Given the description of an element on the screen output the (x, y) to click on. 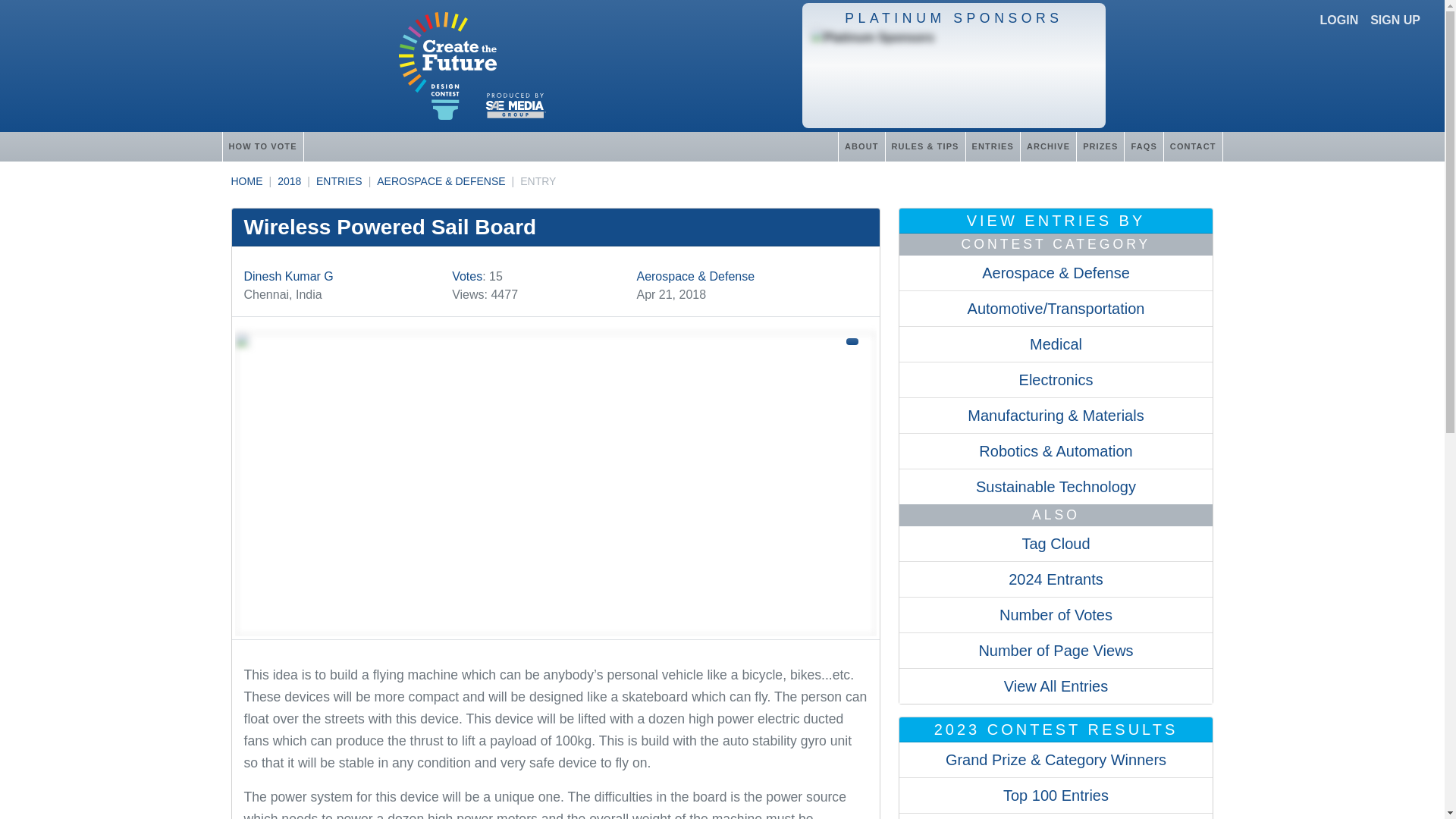
PRIZES (1099, 146)
CONTACT (1193, 146)
Votes (466, 276)
Dinesh Kumar G (288, 276)
HOW TO VOTE (261, 146)
SIGN UP (1395, 20)
ARCHIVE (1047, 146)
ENTRIES (338, 181)
HOME (246, 181)
FAQS (1142, 146)
